Given the description of an element on the screen output the (x, y) to click on. 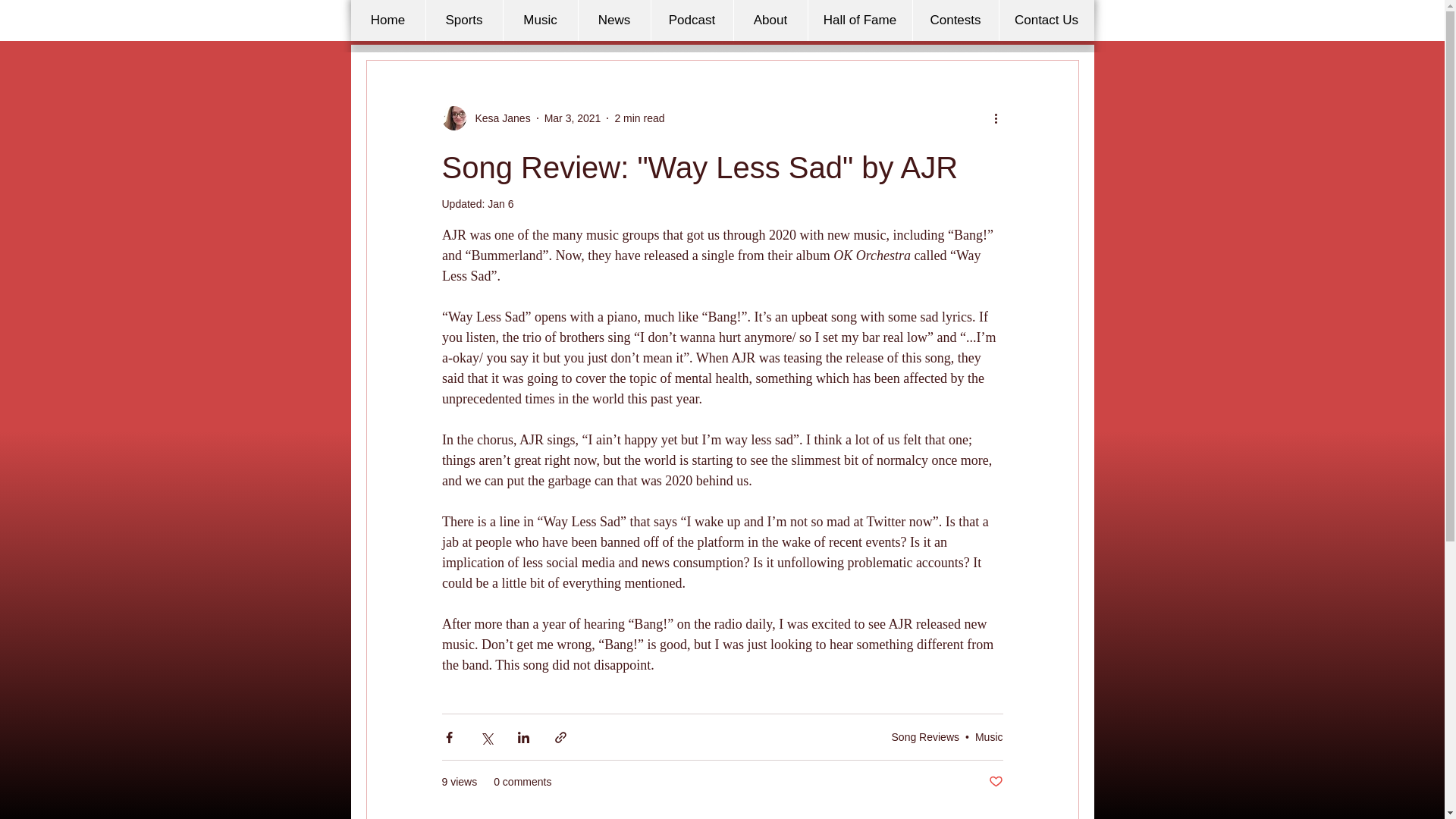
Podcast (691, 20)
2 min read (638, 118)
News (614, 20)
Music (539, 20)
Sports (463, 20)
Jan 6 (500, 203)
Home (387, 20)
Kesa Janes (497, 118)
Mar 3, 2021 (572, 118)
